Given the description of an element on the screen output the (x, y) to click on. 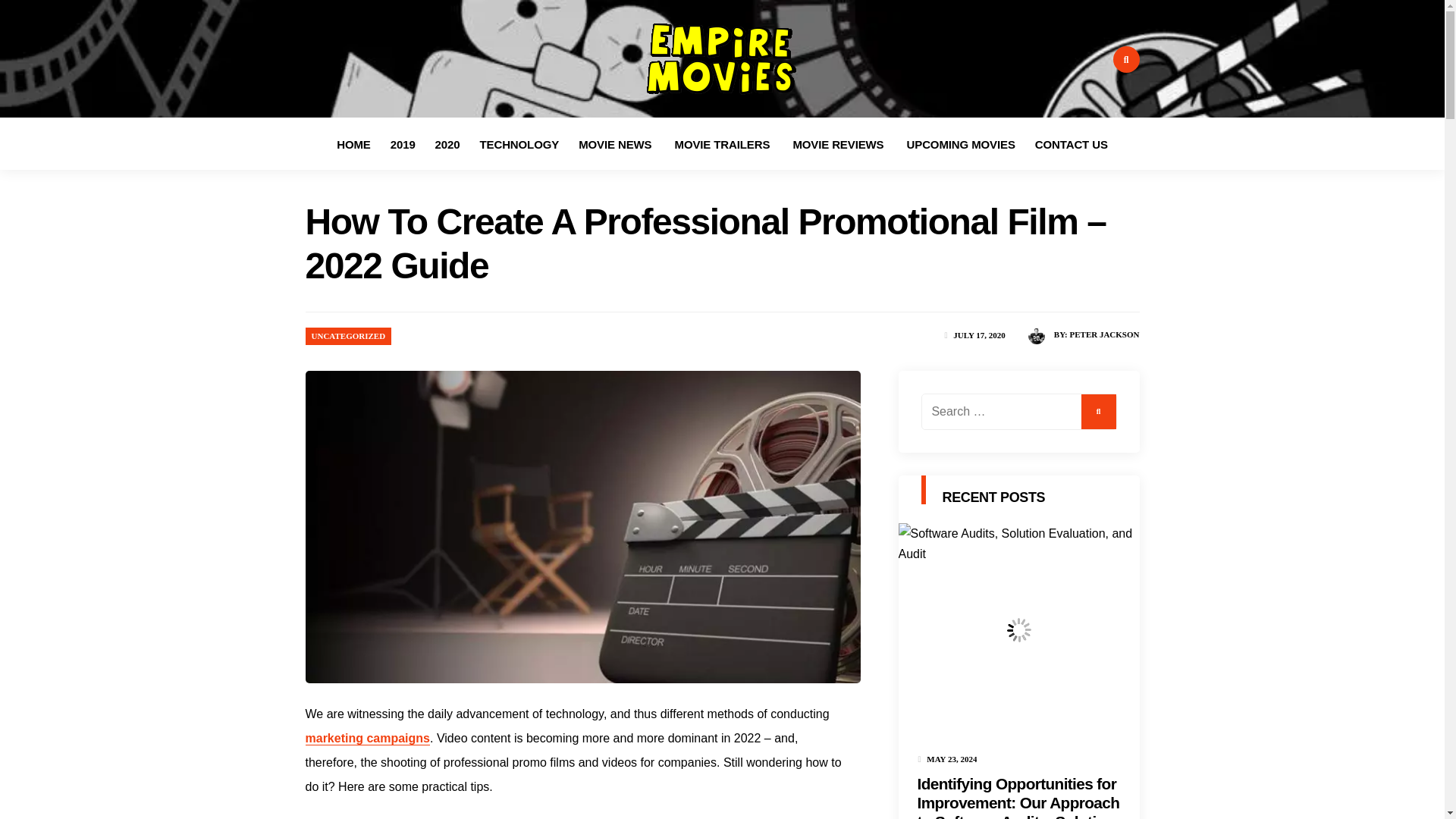
UNCATEGORIZED (348, 335)
TECHNOLOGY (518, 144)
MOVIE TRAILERS  (723, 144)
marketing campaigns (366, 738)
Posts by Peter Jackson (1103, 334)
RECENT POSTS (993, 497)
2019 (402, 144)
CONTACT US (1071, 144)
MOVIE NEWS  (616, 144)
MOVIE REVIEWS  (838, 144)
HOME (353, 144)
2020 (447, 144)
PETER JACKSON (1103, 334)
